Given the description of an element on the screen output the (x, y) to click on. 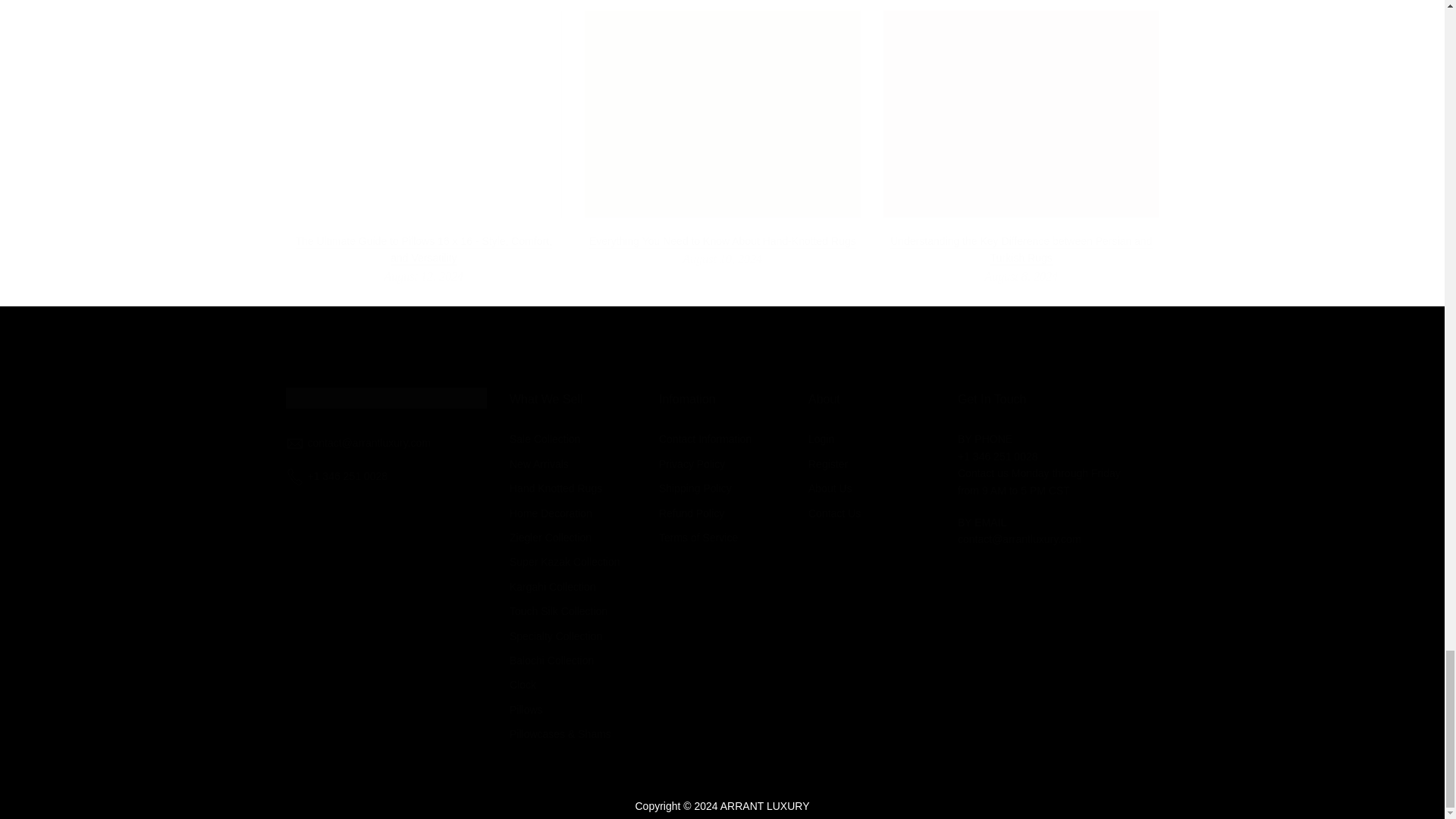
Everything You Need to Know About Hand-Knotted Rugs (722, 241)
